Given the description of an element on the screen output the (x, y) to click on. 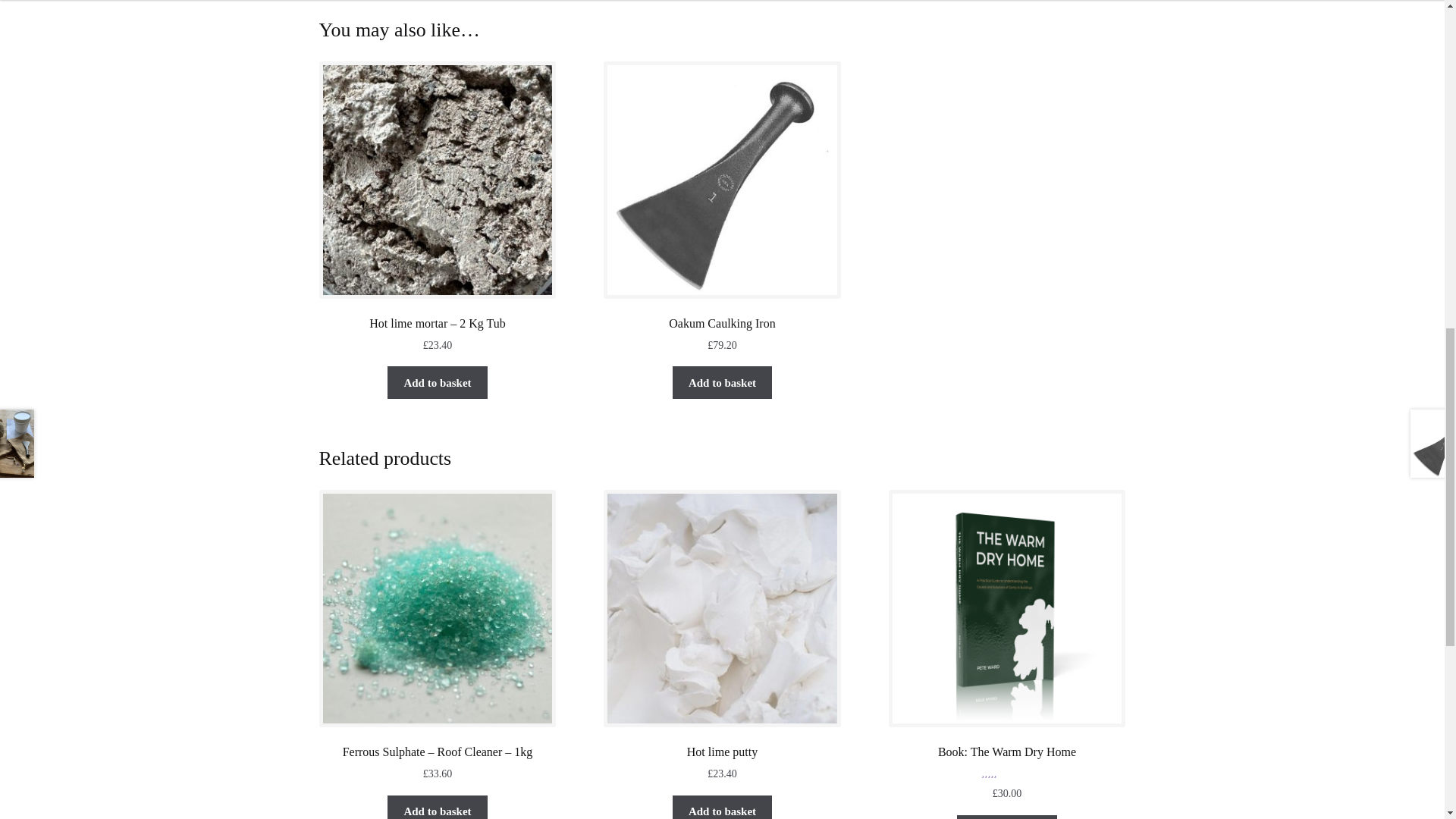
Add to basket (437, 807)
Add to basket (722, 382)
Add to basket (437, 382)
Add to basket (722, 807)
